Given the description of an element on the screen output the (x, y) to click on. 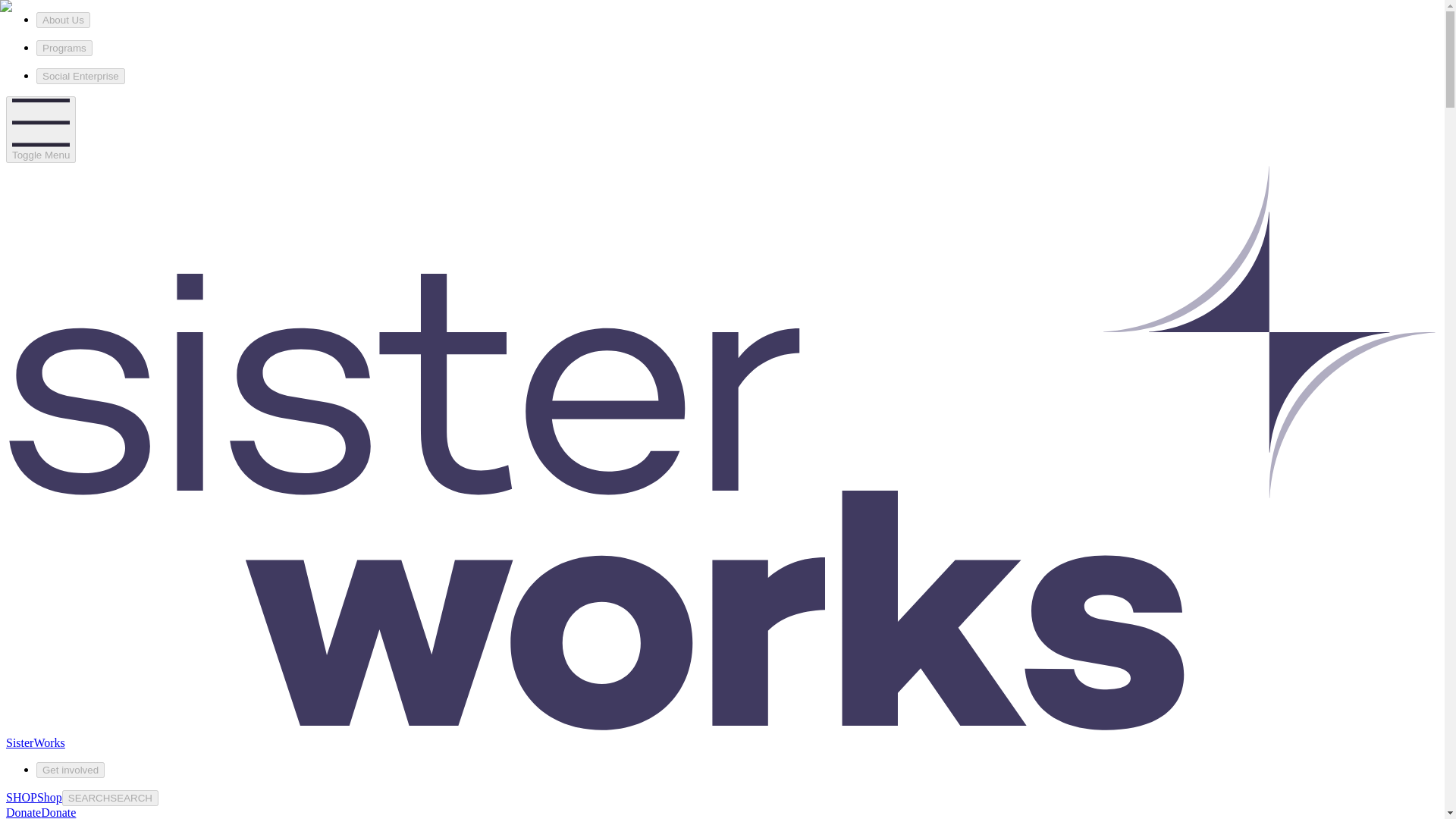
Toggle Menu (40, 129)
Social Enterprise (80, 75)
SEARCHSEARCH (110, 797)
SHOPShop (33, 797)
Get involved (70, 770)
About Us (63, 19)
Programs (64, 48)
DonateDonate (40, 812)
